Given the description of an element on the screen output the (x, y) to click on. 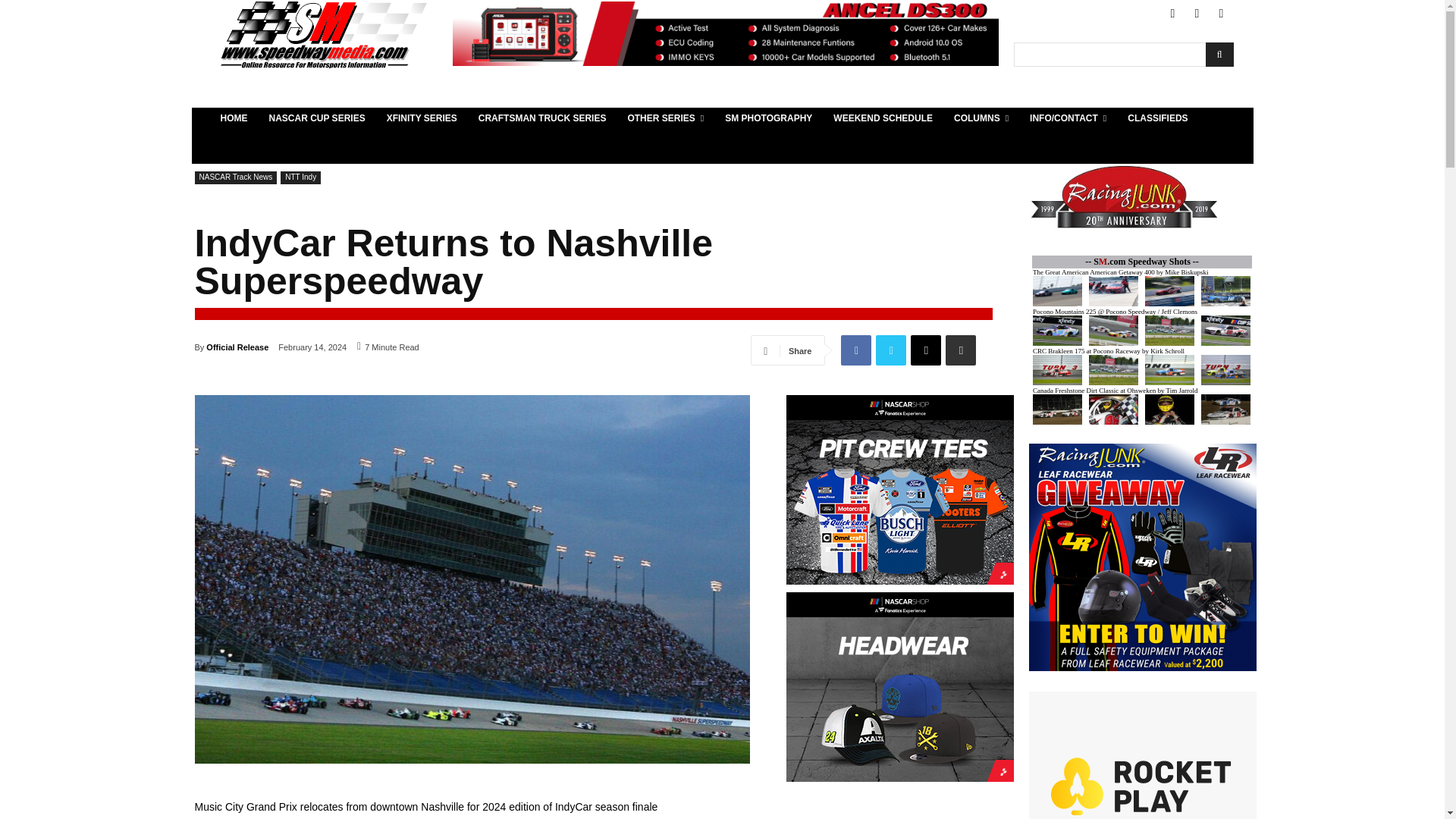
CRAFTSMAN TRUCK SERIES (542, 117)
Email (925, 349)
OTHER SERIES (664, 118)
XFINITY SERIES (421, 117)
Instagram (1220, 13)
Twitter (1196, 13)
Twitter (890, 349)
Print (959, 349)
NASCAR CUP SERIES (316, 117)
Facebook (1172, 13)
Facebook (855, 349)
HOME (233, 117)
